Given the description of an element on the screen output the (x, y) to click on. 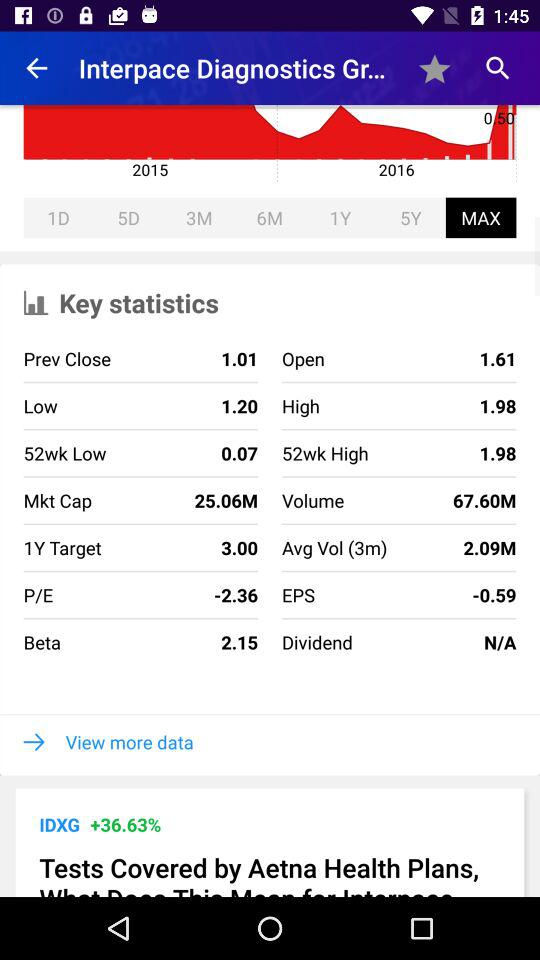
tap the key statistics item (270, 299)
